Given the description of an element on the screen output the (x, y) to click on. 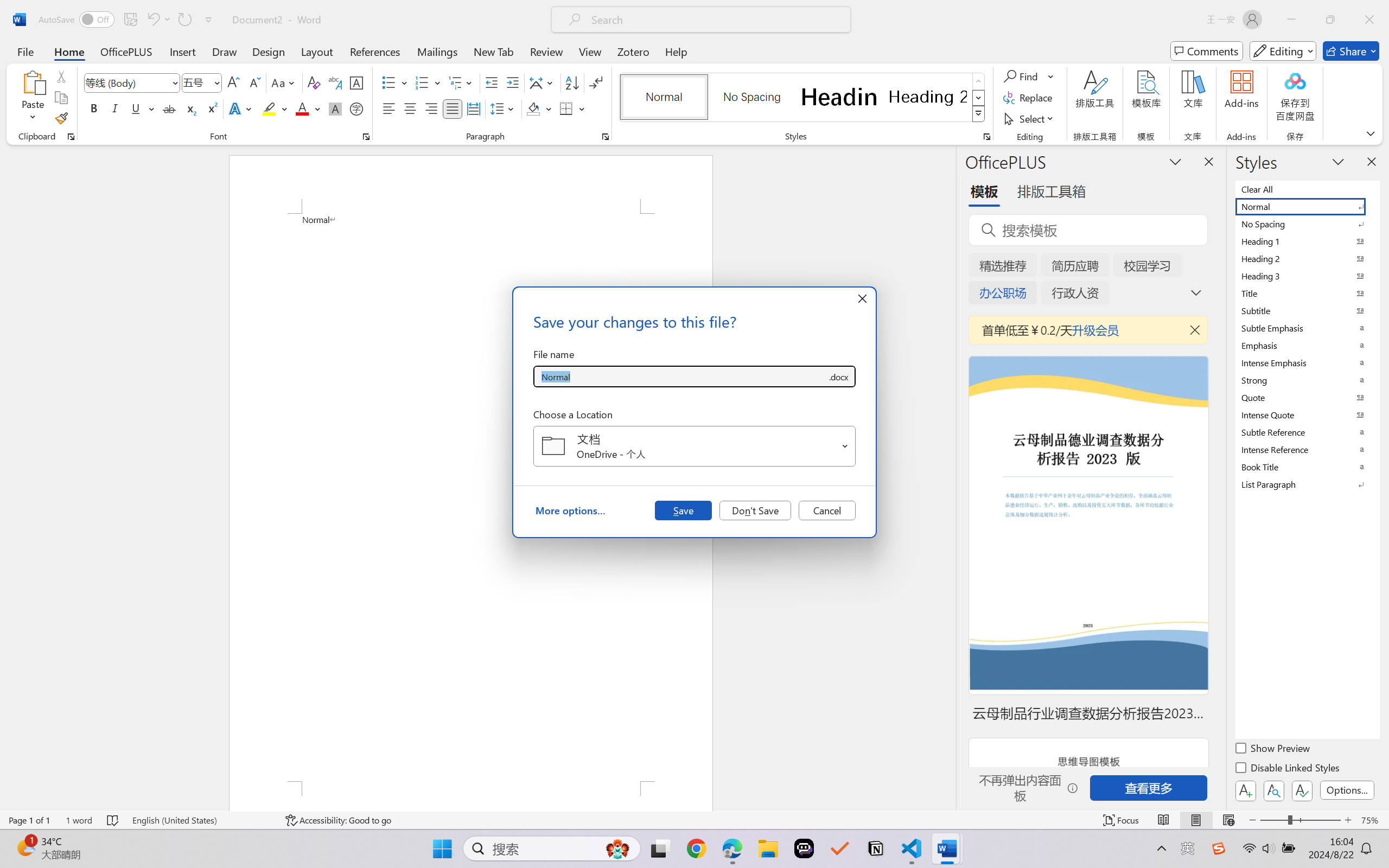
Task Pane Options (1175, 161)
Zoom Out (1273, 819)
Font Size (196, 82)
Save as type (837, 376)
Class: NetUIButton (1301, 790)
Options... (1346, 789)
Customize Quick Access Toolbar (208, 19)
Repeat Style (184, 19)
File name (680, 376)
Undo Apply Quick Style (152, 19)
